Given the description of an element on the screen output the (x, y) to click on. 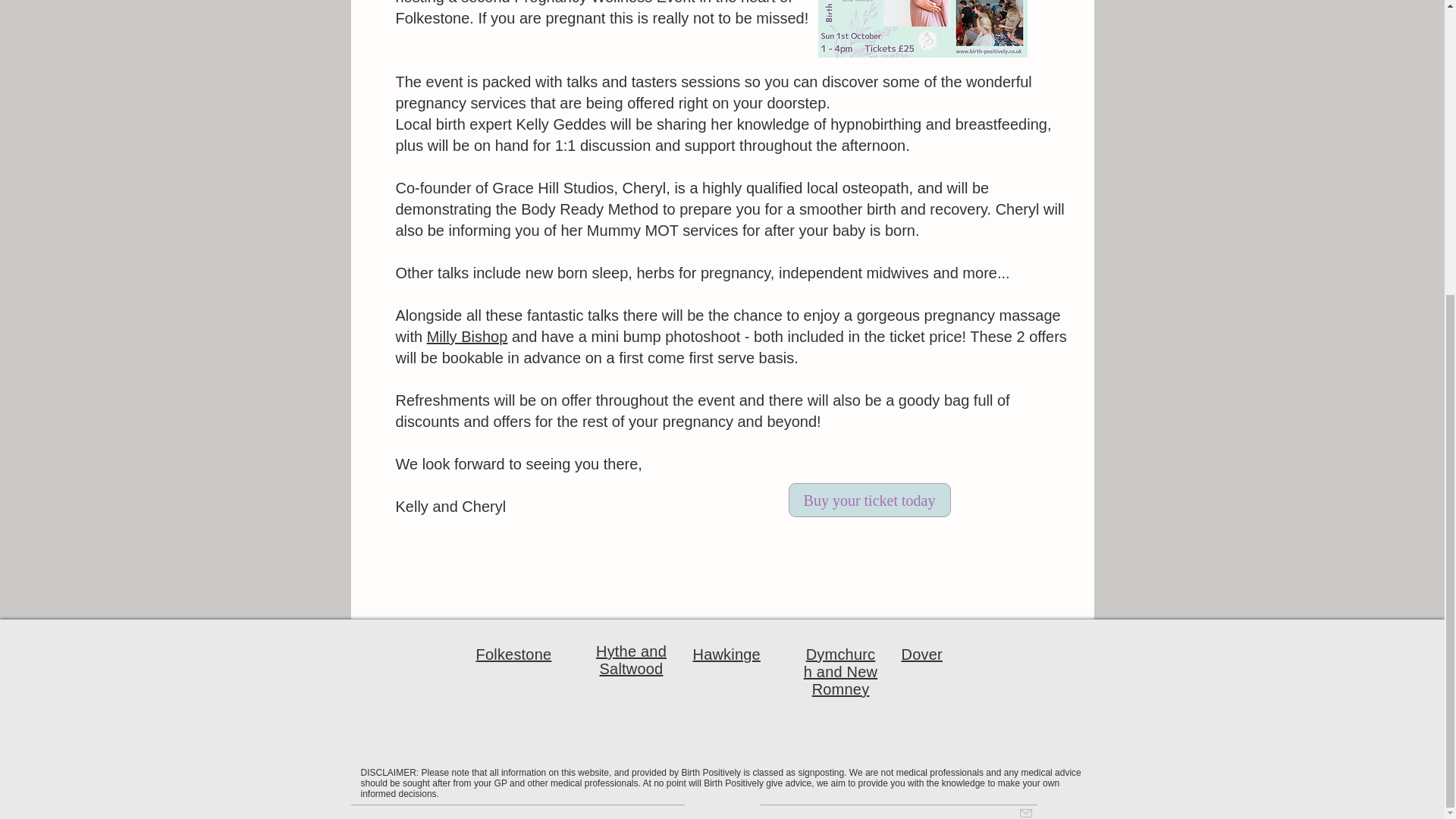
Folkestone (513, 654)
Dover (921, 654)
Milly Bishop (467, 336)
Buy your ticket today (869, 499)
Hythe and Saltwood (630, 659)
Dymchurch and New Romney (840, 671)
Hawkinge (726, 654)
